Given the description of an element on the screen output the (x, y) to click on. 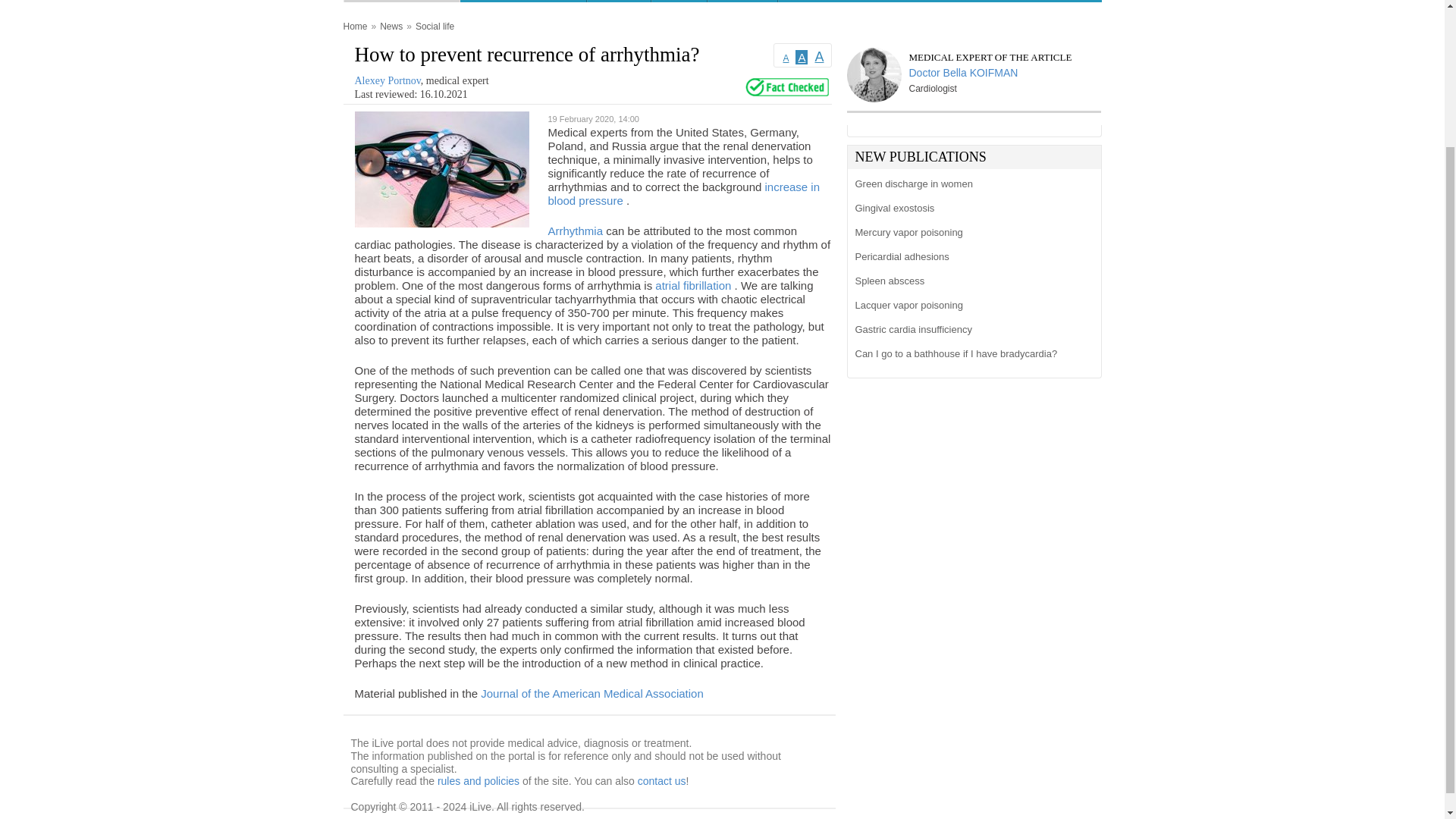
Lacquer vapor poisoning (971, 305)
rules and policies (478, 780)
Doctor Bella KOIFMAN (972, 70)
Health care (742, 1)
Alexey Portnov (387, 80)
increase in blood pressure (683, 191)
Gingival exostosis (971, 209)
Arrhythmia (576, 228)
Can I go to a bathhouse if I have bradycardia? (971, 354)
Social life (434, 26)
News (391, 26)
Clinic News (814, 1)
Journal of the American Medical Association (591, 691)
